Given the description of an element on the screen output the (x, y) to click on. 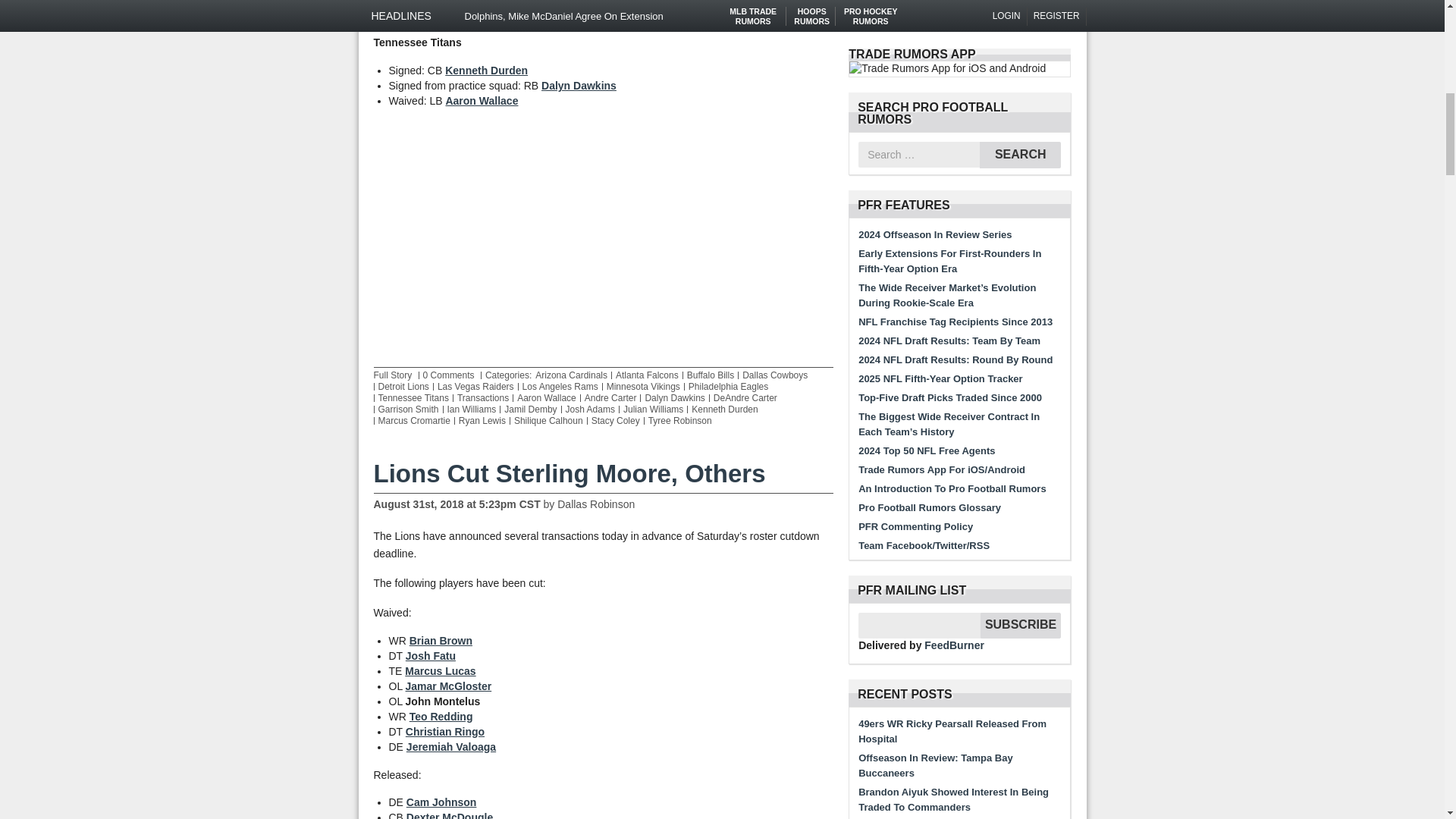
View all posts in Atlanta Falcons (646, 375)
View all posts in Arizona Cardinals (571, 375)
View all posts in Los Angeles Rams (560, 386)
Search (1020, 154)
View all posts in Las Vegas Raiders (475, 386)
View all posts in Minnesota Vikings (643, 386)
Subscribe (1020, 625)
View all posts in Transactions (482, 398)
View all posts in Philadelphia Eagles (728, 386)
View all posts in Andre Carter (611, 398)
